Given the description of an element on the screen output the (x, y) to click on. 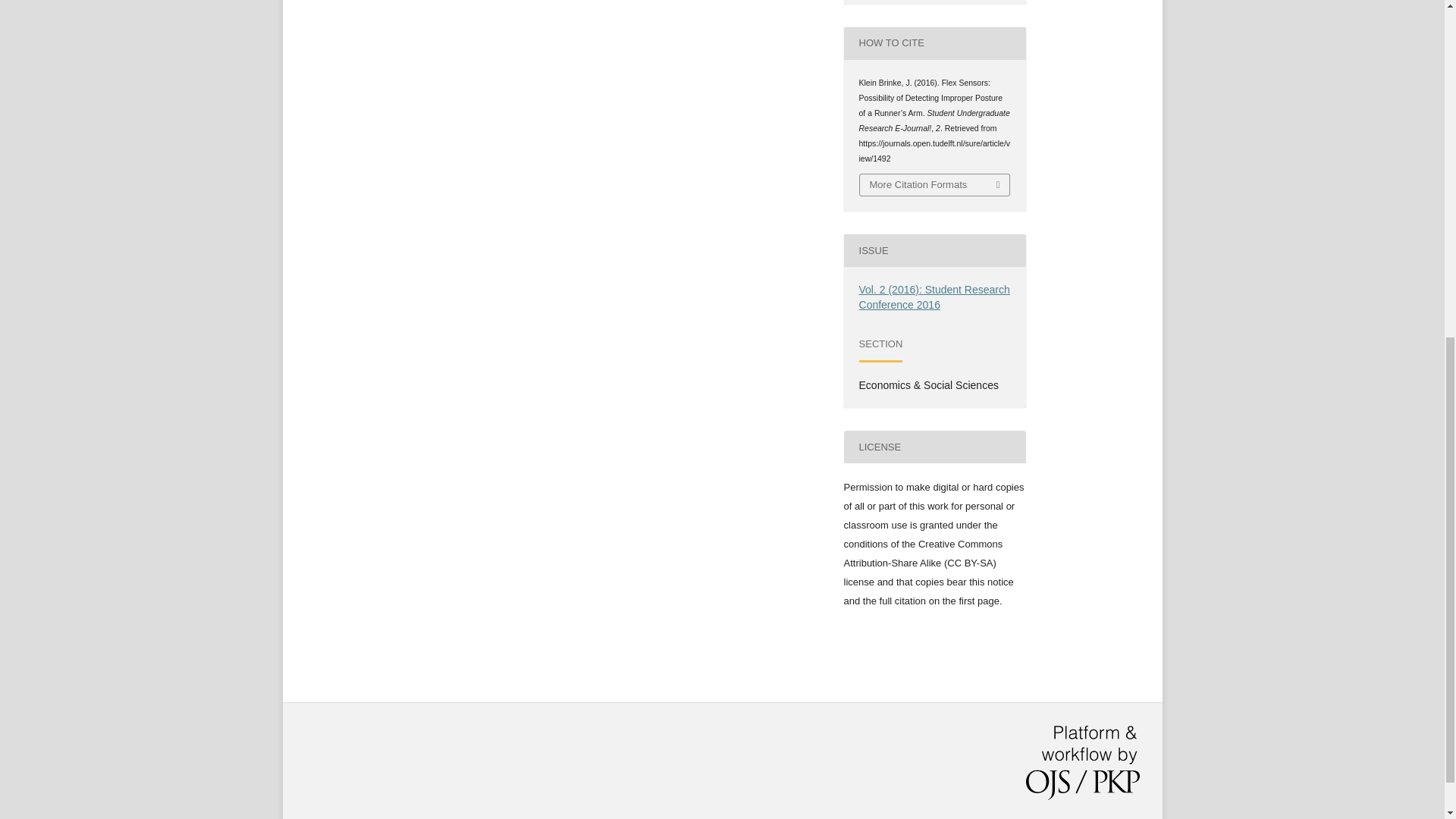
More Citation Formats (935, 184)
